Given the description of an element on the screen output the (x, y) to click on. 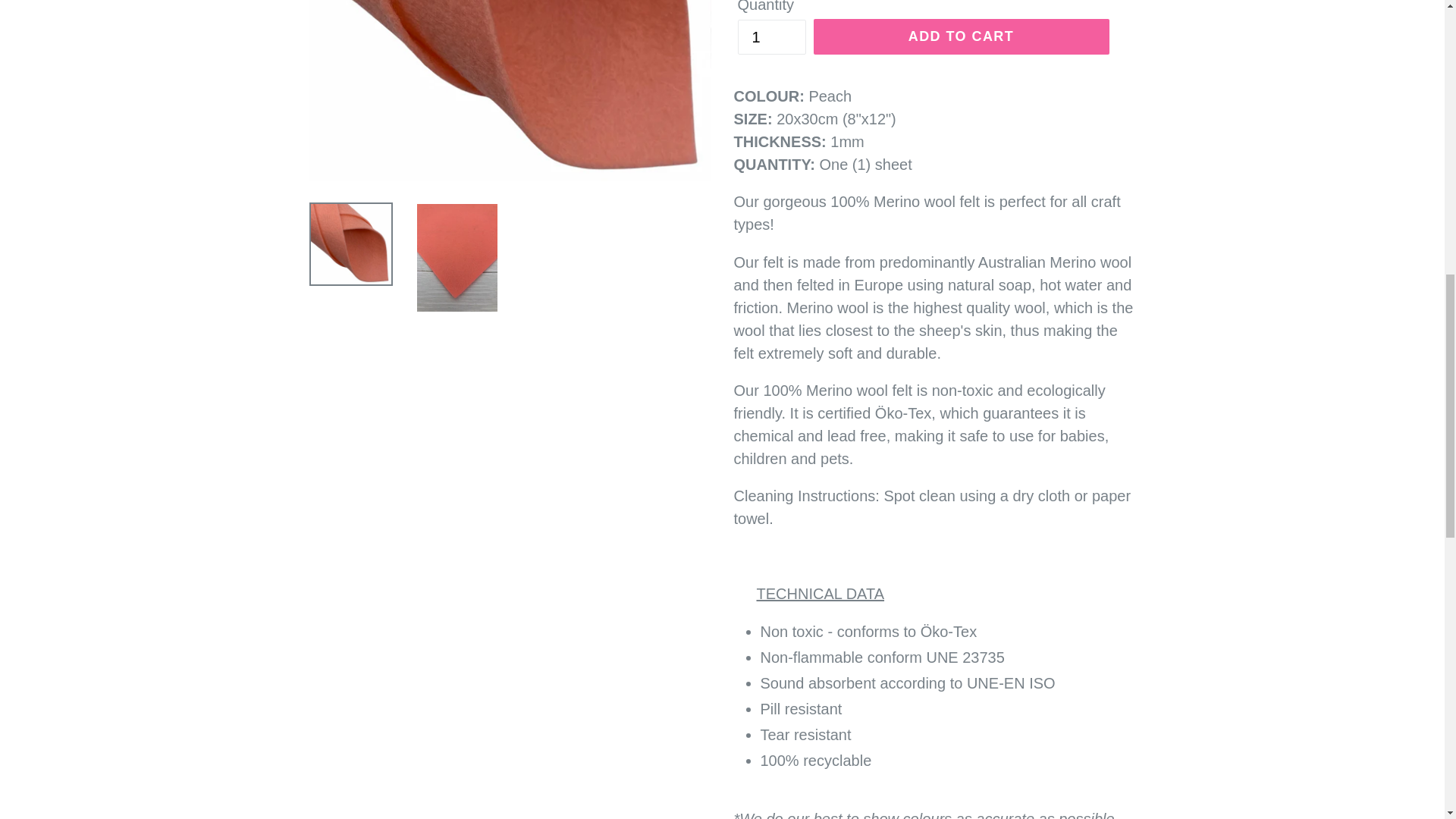
1 (770, 36)
